Given the description of an element on the screen output the (x, y) to click on. 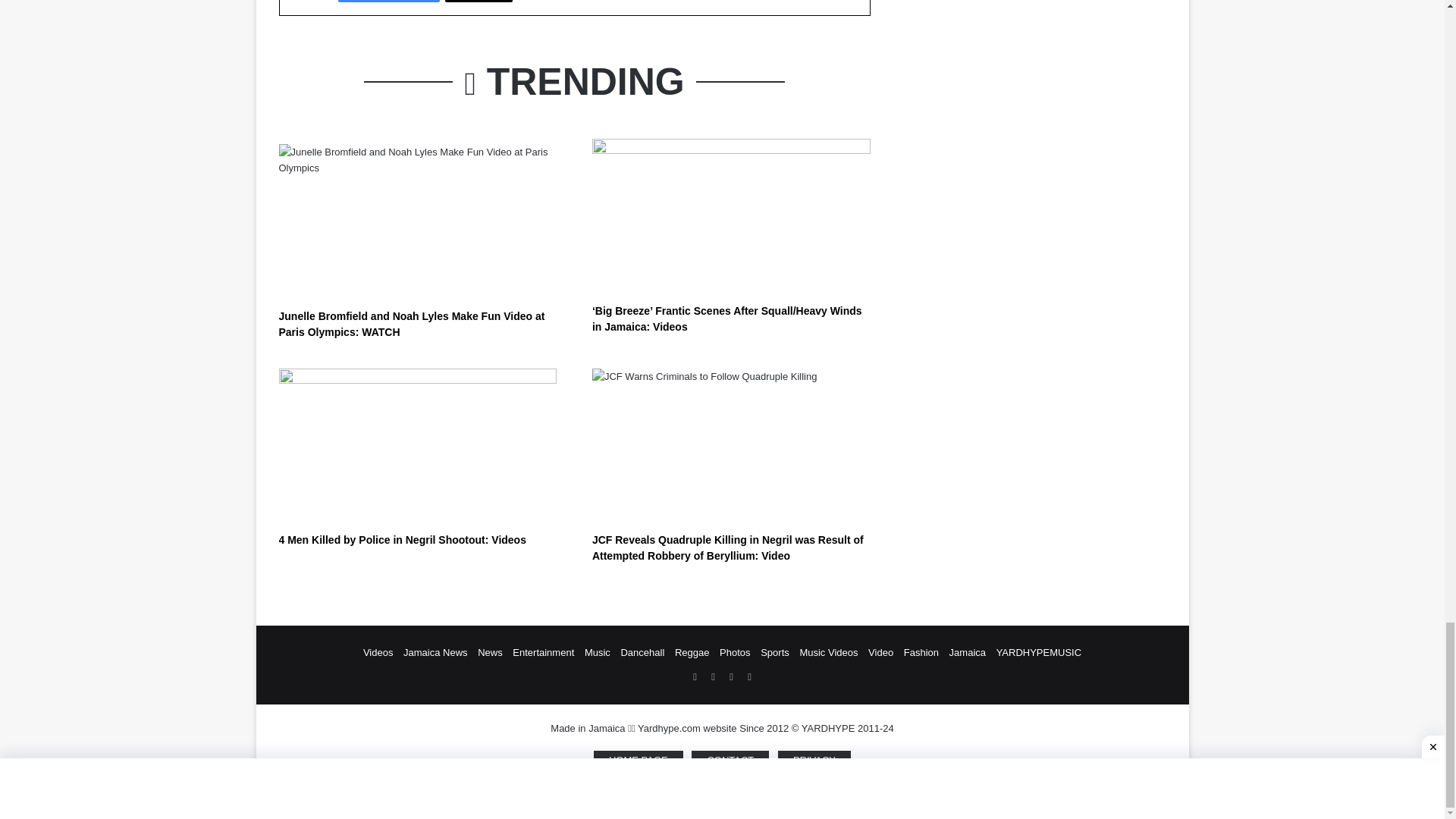
X (478, 1)
Facebook (388, 1)
